Given the description of an element on the screen output the (x, y) to click on. 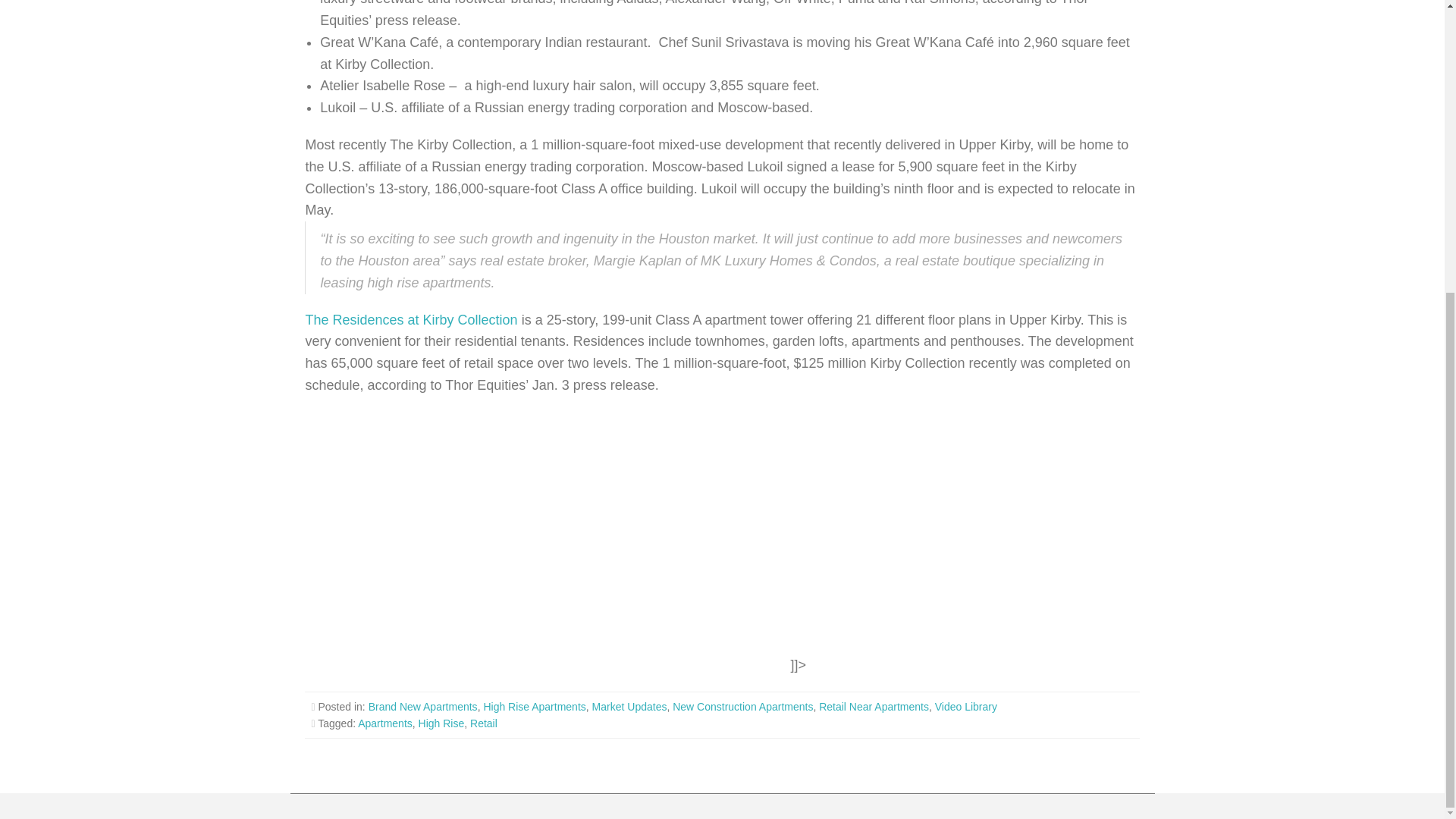
Brand New Apartments (422, 706)
High Rise Apartments (534, 706)
The Residences at Kirby Collection (410, 319)
Market Updates (629, 706)
